Given the description of an element on the screen output the (x, y) to click on. 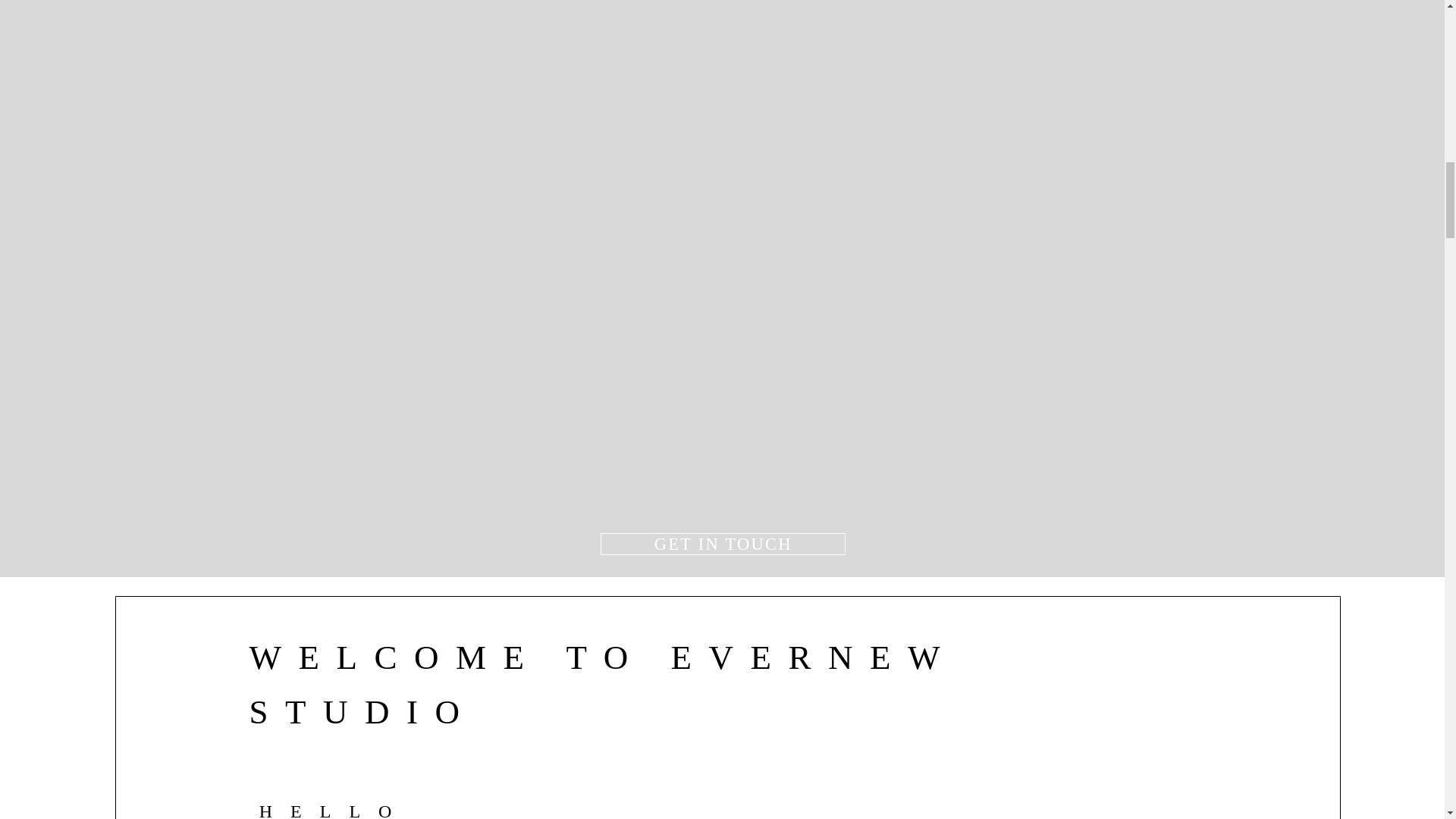
GET IN TOUCH (722, 543)
